Given the description of an element on the screen output the (x, y) to click on. 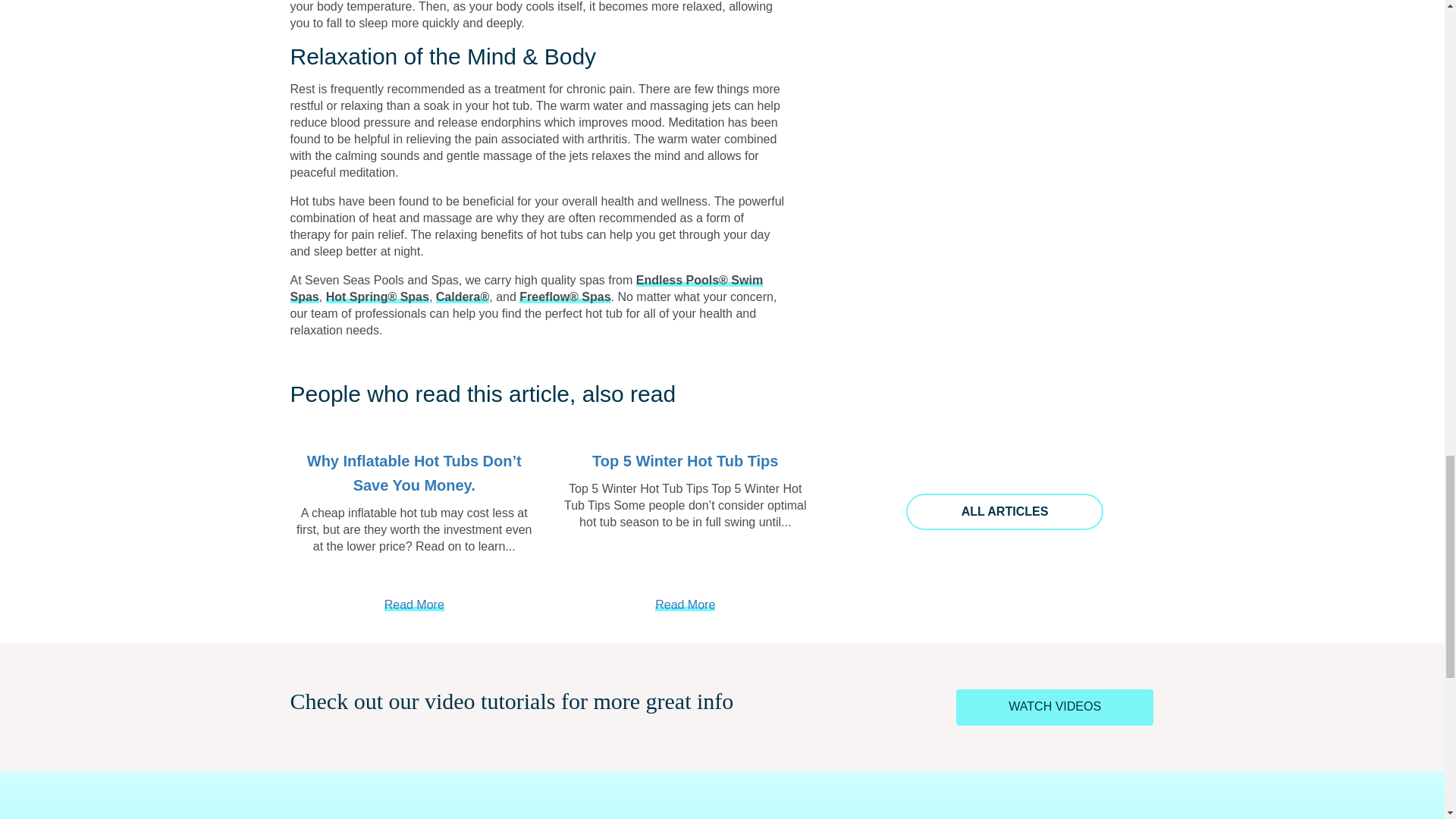
Hot Spring Spas (377, 296)
Endless Pools Swim Spas (525, 288)
Caldera Spas (462, 296)
Freeflow Spas (564, 296)
